Given the description of an element on the screen output the (x, y) to click on. 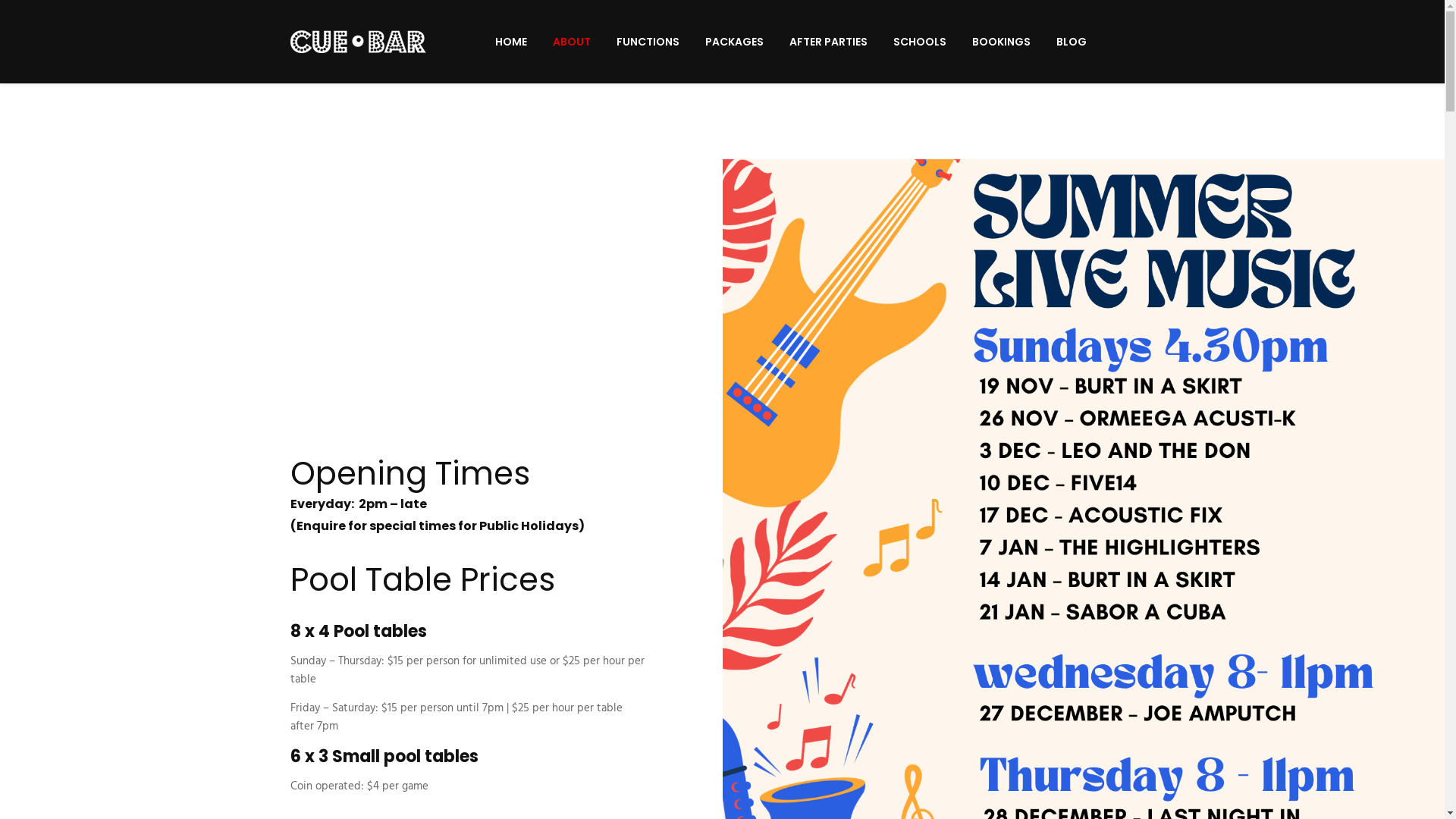
PACKAGES Element type: text (734, 41)
BLOG Element type: text (1070, 41)
HOME Element type: text (510, 41)
Cue Bar Element type: hover (357, 41)
SCHOOLS Element type: text (919, 41)
ABOUT Element type: text (570, 41)
FUNCTIONS Element type: text (646, 41)
BOOKINGS Element type: text (1001, 41)
AFTER PARTIES Element type: text (827, 41)
